Given the description of an element on the screen output the (x, y) to click on. 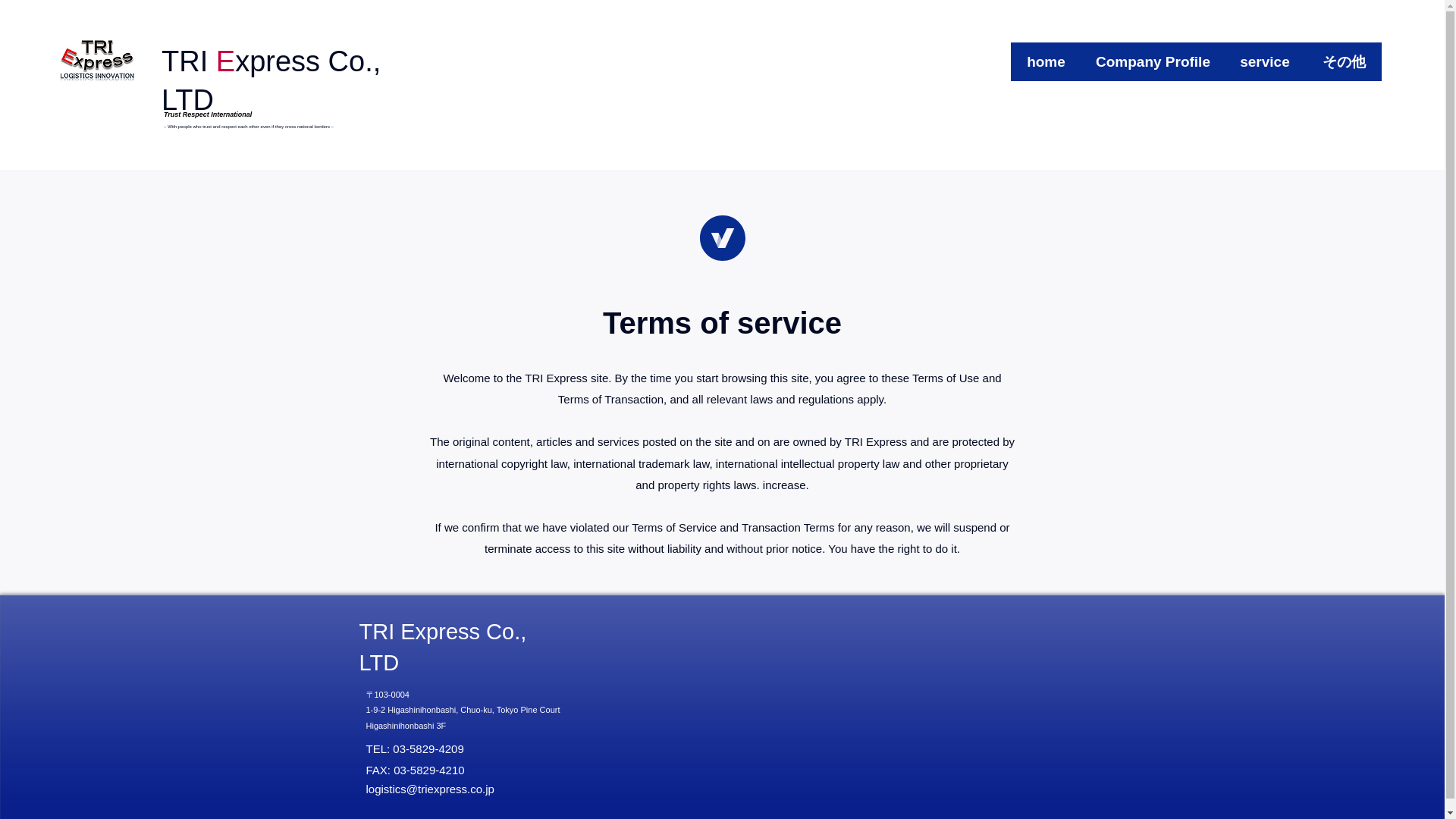
TRI Express Co., LTD (443, 646)
service (1264, 61)
xpress Co., LTD (270, 80)
E (224, 60)
TRI (184, 60)
Company Profile (1152, 61)
home (1045, 61)
